Given the description of an element on the screen output the (x, y) to click on. 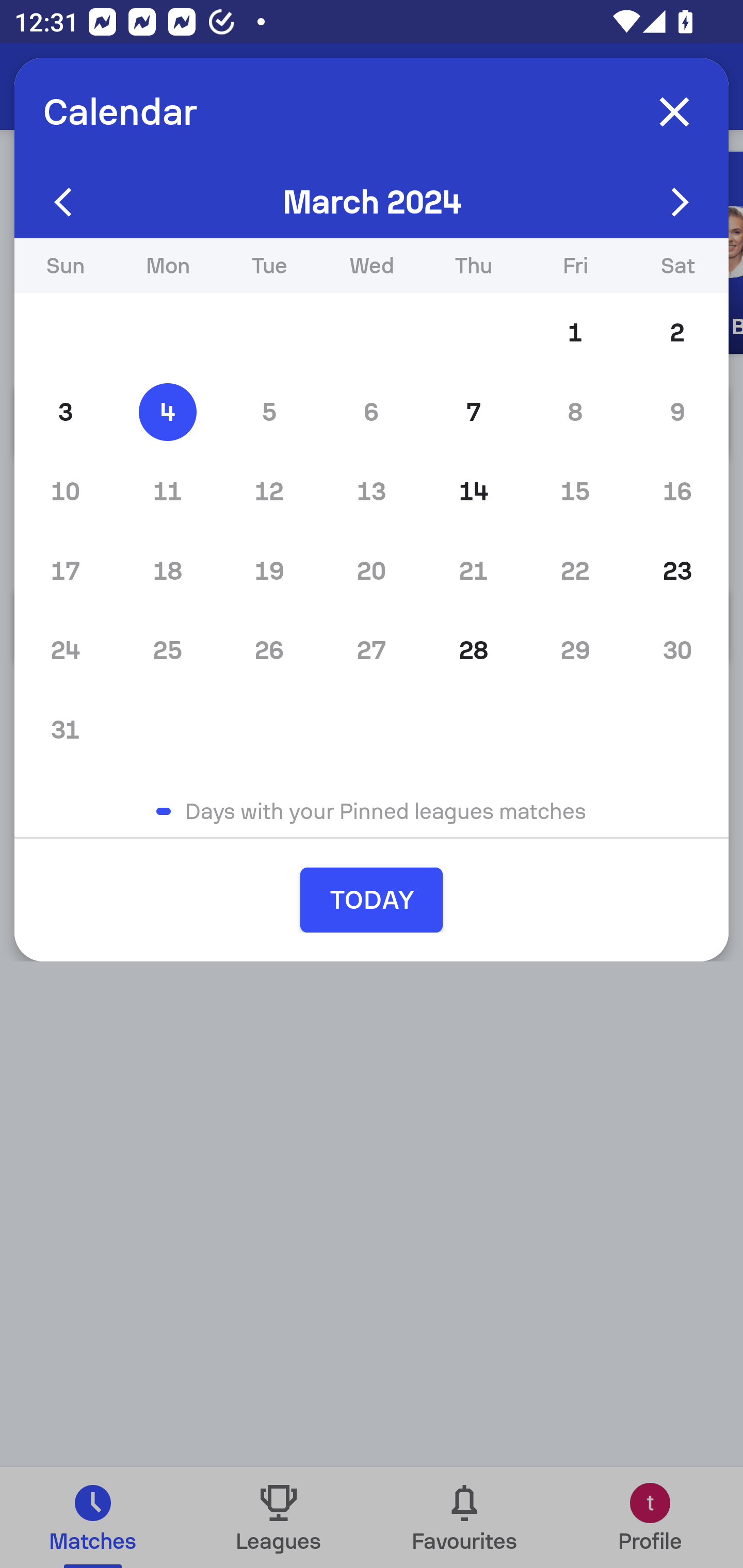
1 (575, 333)
2 (677, 333)
3 (65, 412)
4 (167, 412)
5 (269, 412)
6 (371, 412)
7 (473, 412)
8 (575, 412)
9 (677, 412)
10 (65, 491)
11 (167, 491)
12 (269, 491)
13 (371, 491)
14 (473, 491)
15 (575, 491)
16 (677, 491)
17 (65, 570)
18 (167, 570)
19 (269, 570)
20 (371, 570)
21 (473, 570)
22 (575, 570)
23 (677, 570)
24 (65, 649)
25 (167, 649)
26 (269, 649)
27 (371, 649)
28 (473, 649)
29 (575, 649)
30 (677, 649)
31 (65, 729)
TODAY (371, 899)
